Given the description of an element on the screen output the (x, y) to click on. 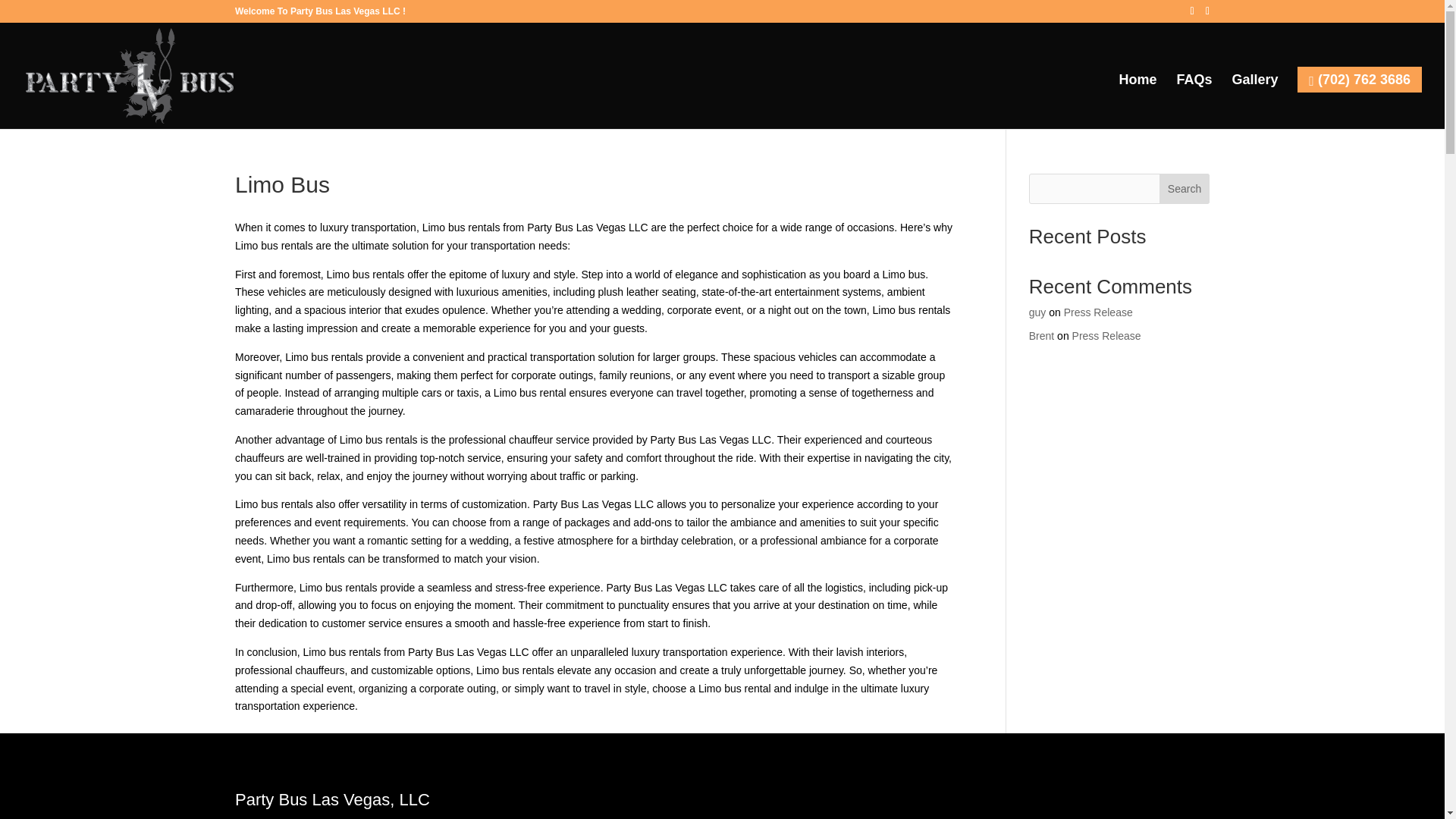
Brent (1041, 336)
Press Release (1098, 312)
guy (1037, 312)
Search (1183, 188)
Press Release (1106, 336)
